Given the description of an element on the screen output the (x, y) to click on. 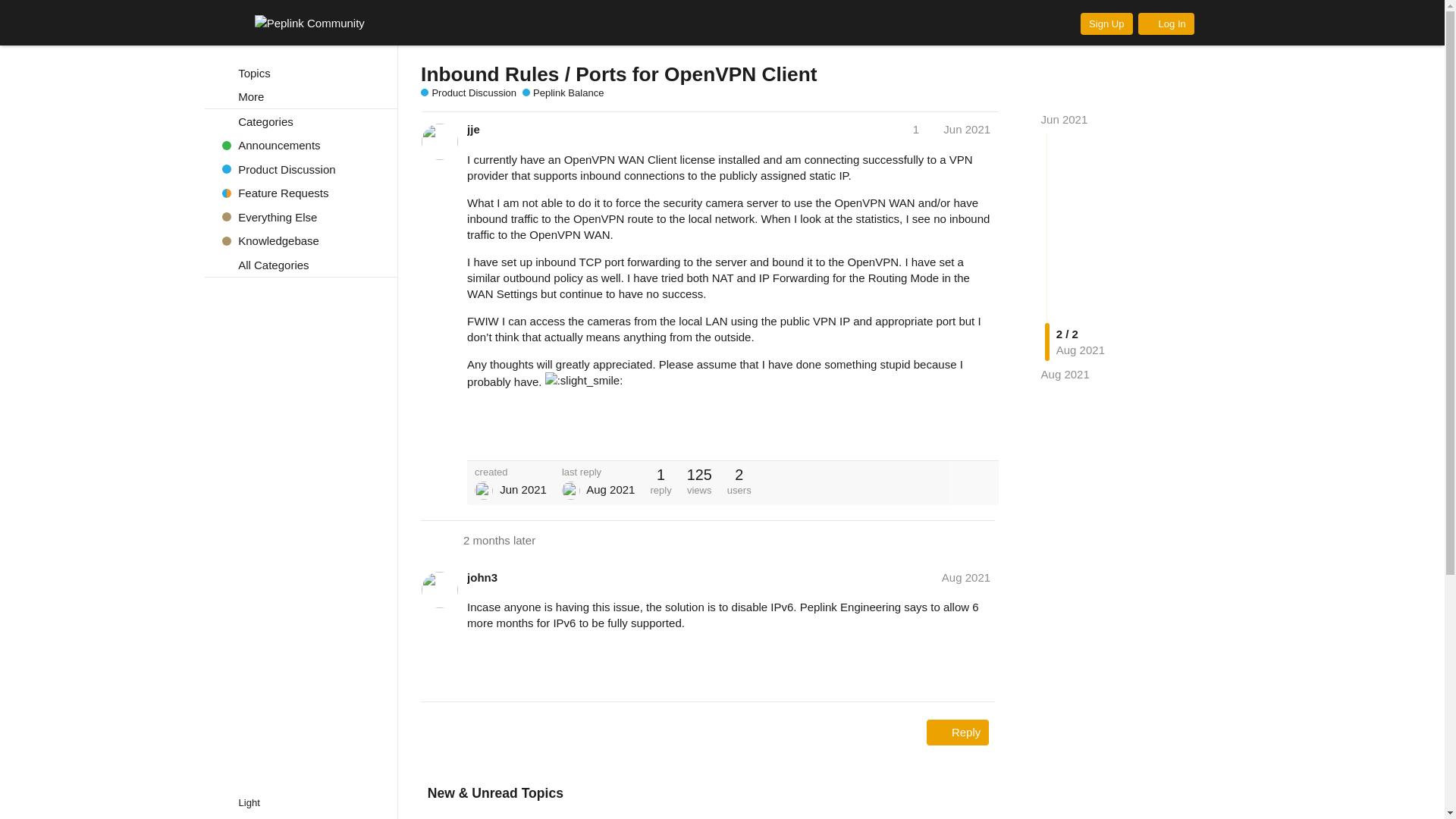
Knowledgebase (301, 241)
More (301, 96)
Sign Up (1106, 24)
Keyboard Shortcuts (378, 802)
Product Discussion (301, 168)
last reply (598, 471)
1 (922, 128)
Search (1215, 22)
